Given the description of an element on the screen output the (x, y) to click on. 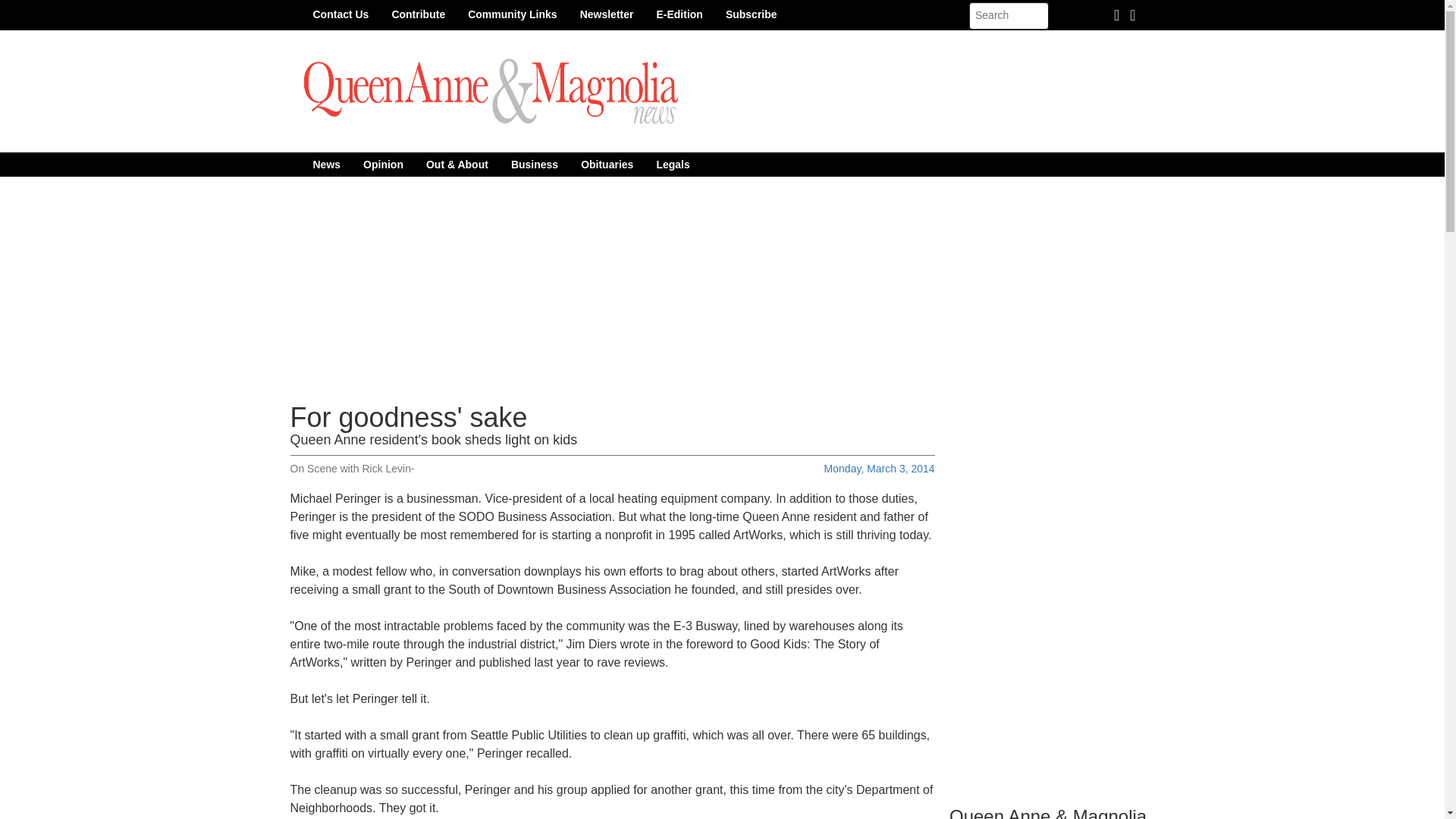
Community Links (512, 14)
Monday, March 3, 2014 (879, 468)
Obituaries (607, 164)
Subscribe (751, 14)
Legals (672, 164)
Business (534, 164)
Newsletter (607, 14)
Contribute (418, 14)
Contact Us (340, 14)
Opinion (383, 164)
News (326, 164)
E-Edition (679, 14)
